Given the description of an element on the screen output the (x, y) to click on. 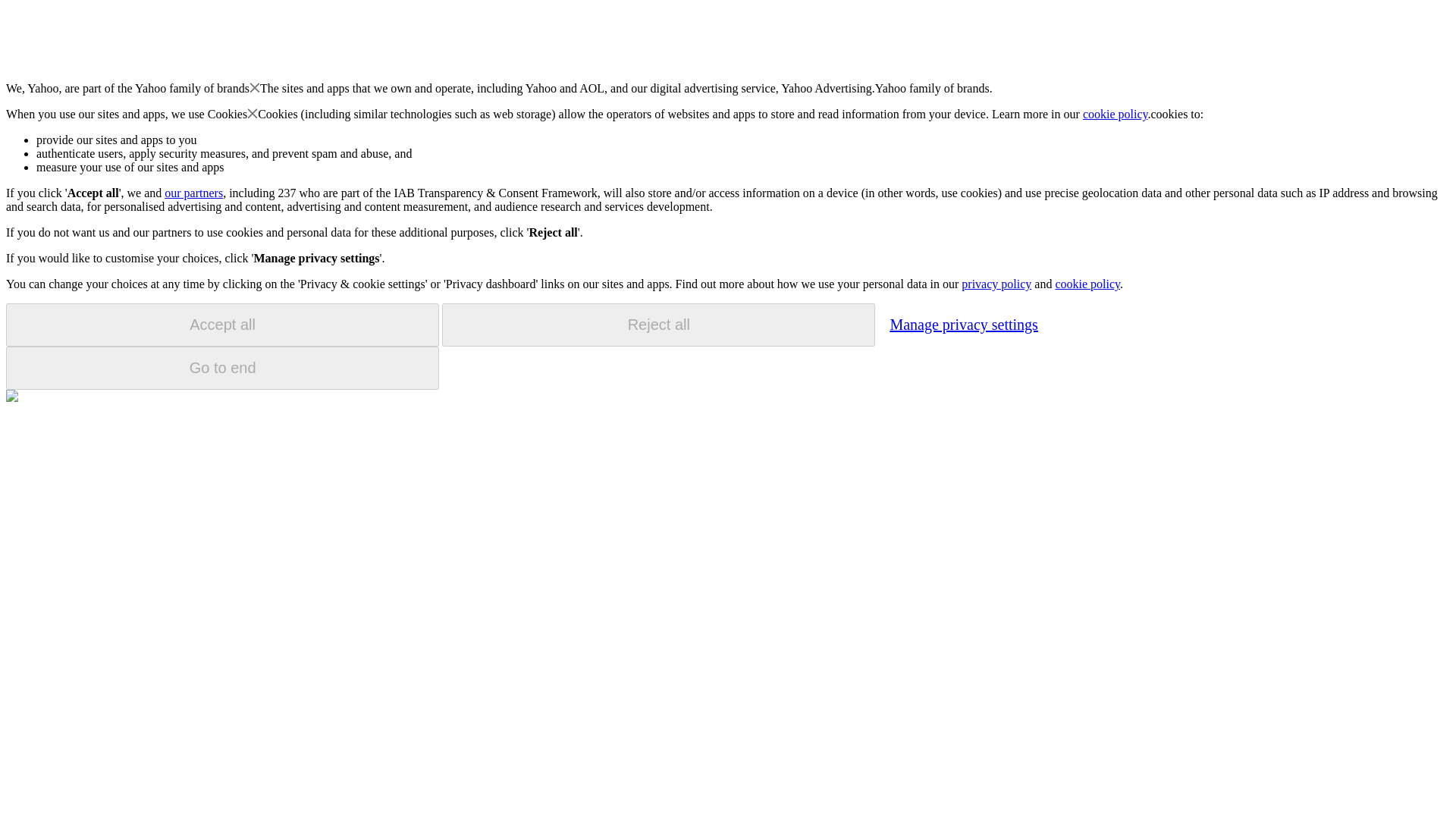
cookie policy (1115, 113)
Reject all (658, 324)
our partners (193, 192)
Go to end (222, 367)
cookie policy (1086, 283)
Accept all (222, 324)
Manage privacy settings (963, 323)
privacy policy (995, 283)
